Given the description of an element on the screen output the (x, y) to click on. 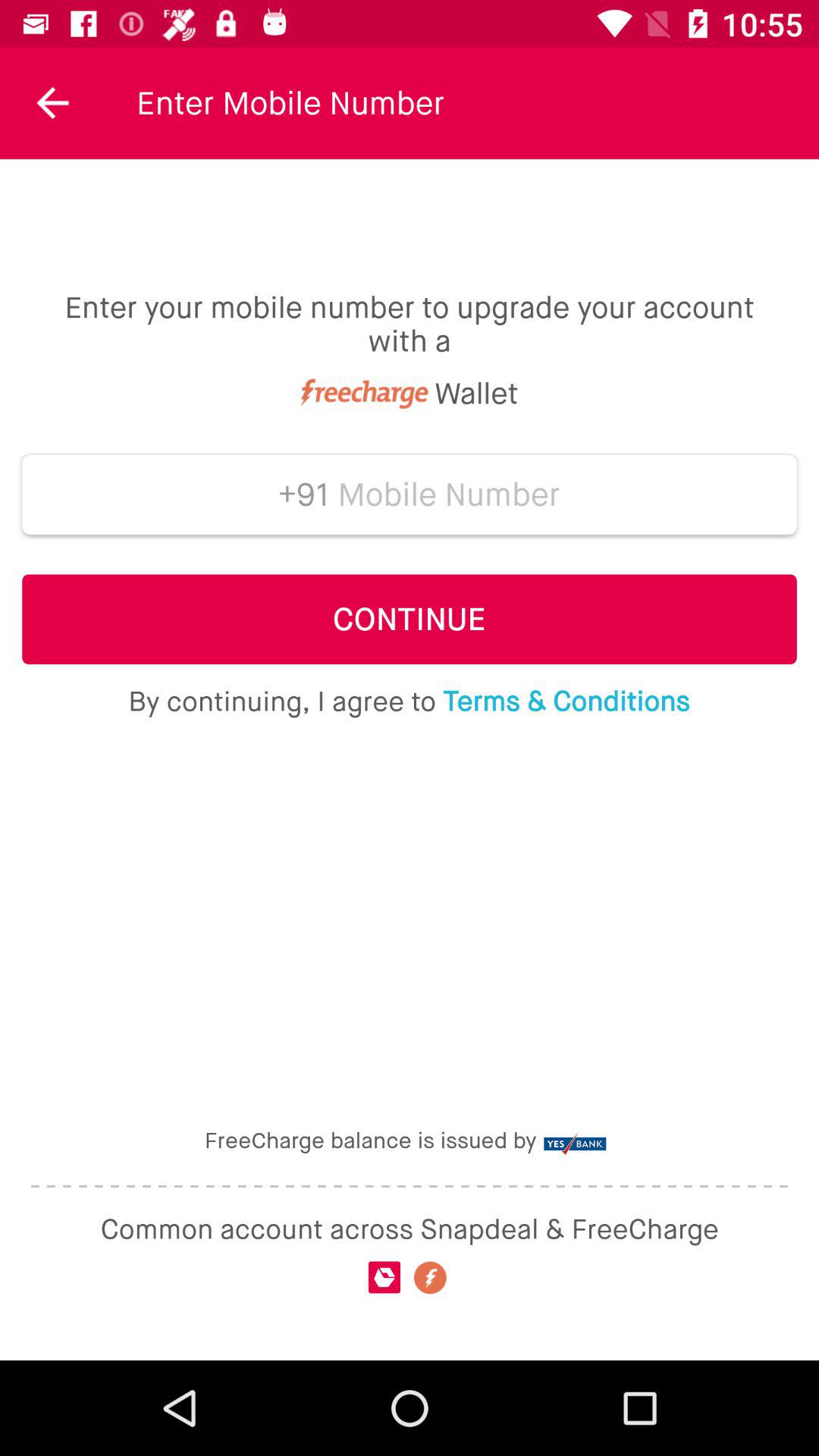
press the icon below the wallet (448, 494)
